Given the description of an element on the screen output the (x, y) to click on. 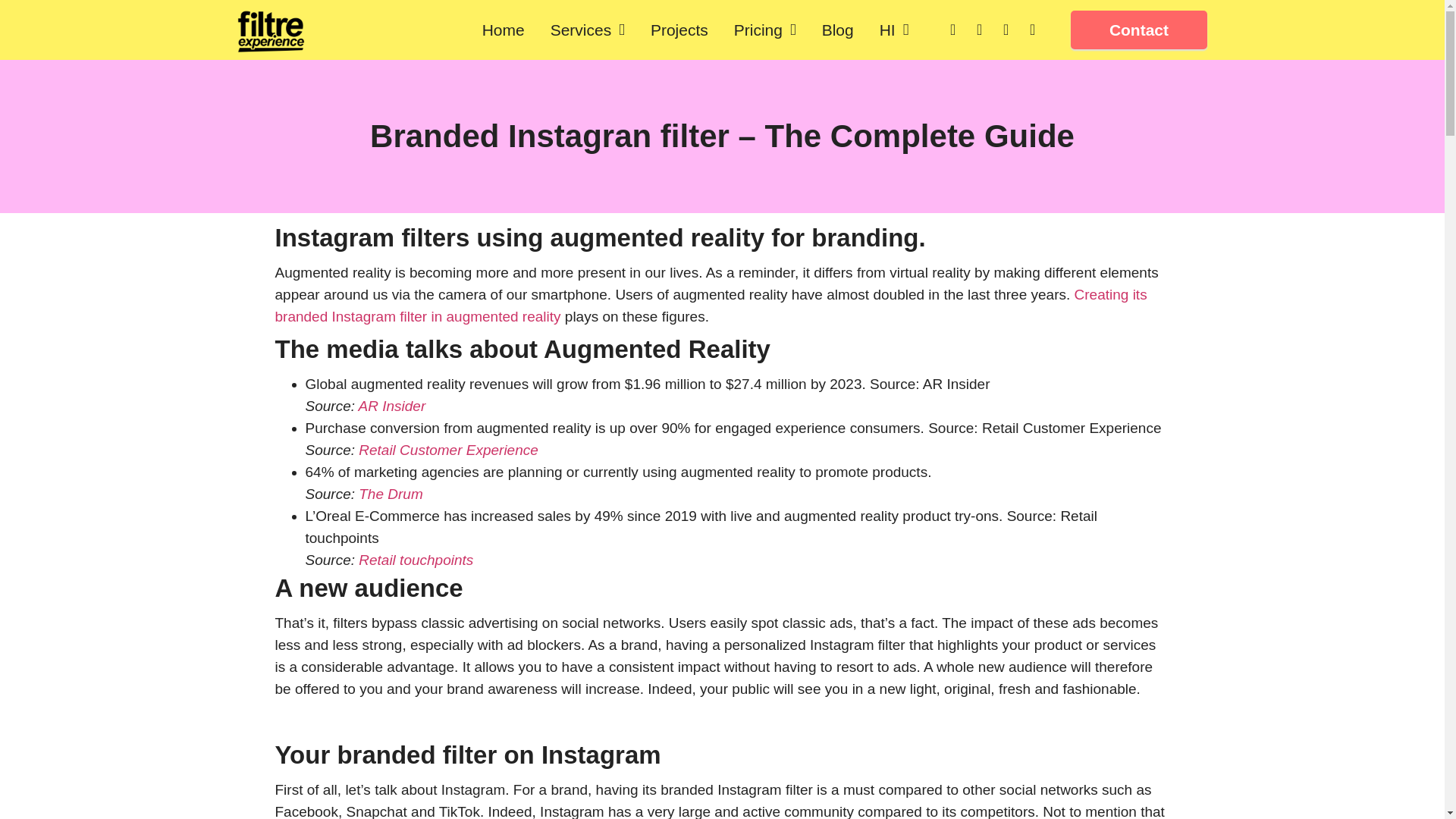
Projects (678, 29)
Services (587, 29)
Home (503, 29)
Pricing (764, 29)
